Given the description of an element on the screen output the (x, y) to click on. 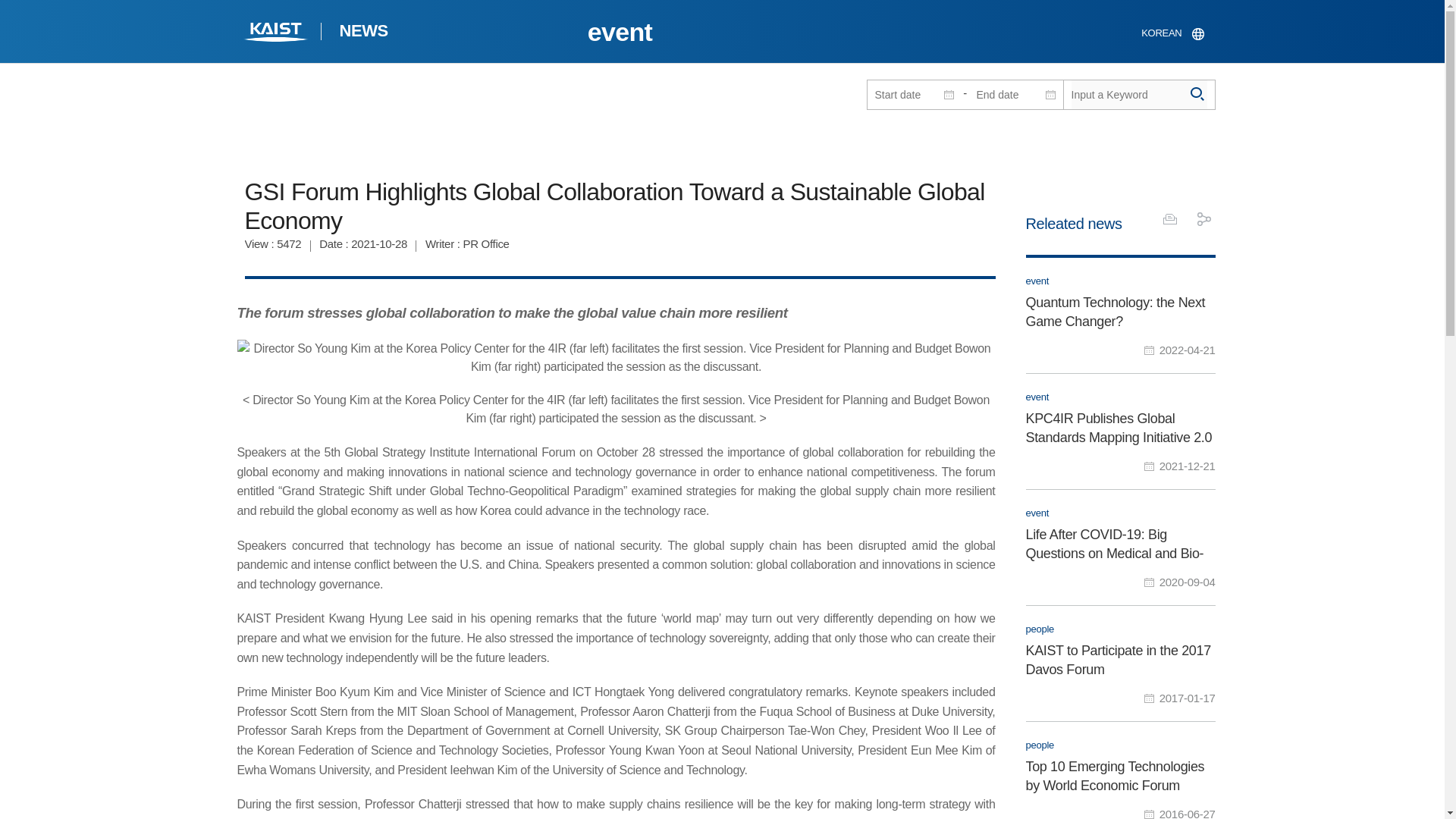
NEWS (363, 33)
Input a Keyword (1119, 315)
KAIST (1138, 94)
KOREAN (276, 33)
